Given the description of an element on the screen output the (x, y) to click on. 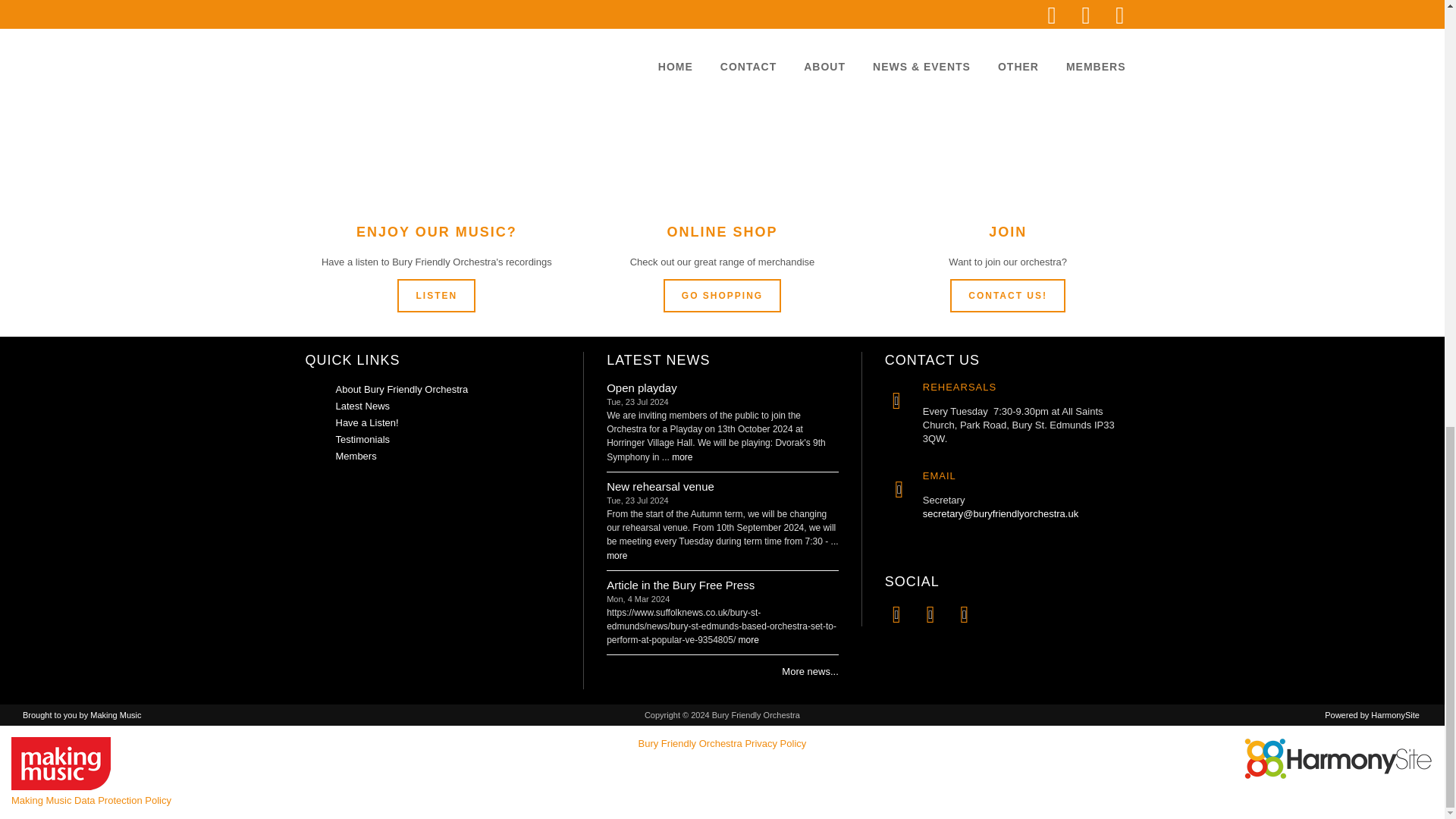
RSS Feeds (963, 614)
Powered by HarmonySite (1337, 758)
Visit us on Facebook (896, 614)
Brought to you by Making Music (60, 763)
Subscribe to our YouTube channel (930, 614)
